Given the description of an element on the screen output the (x, y) to click on. 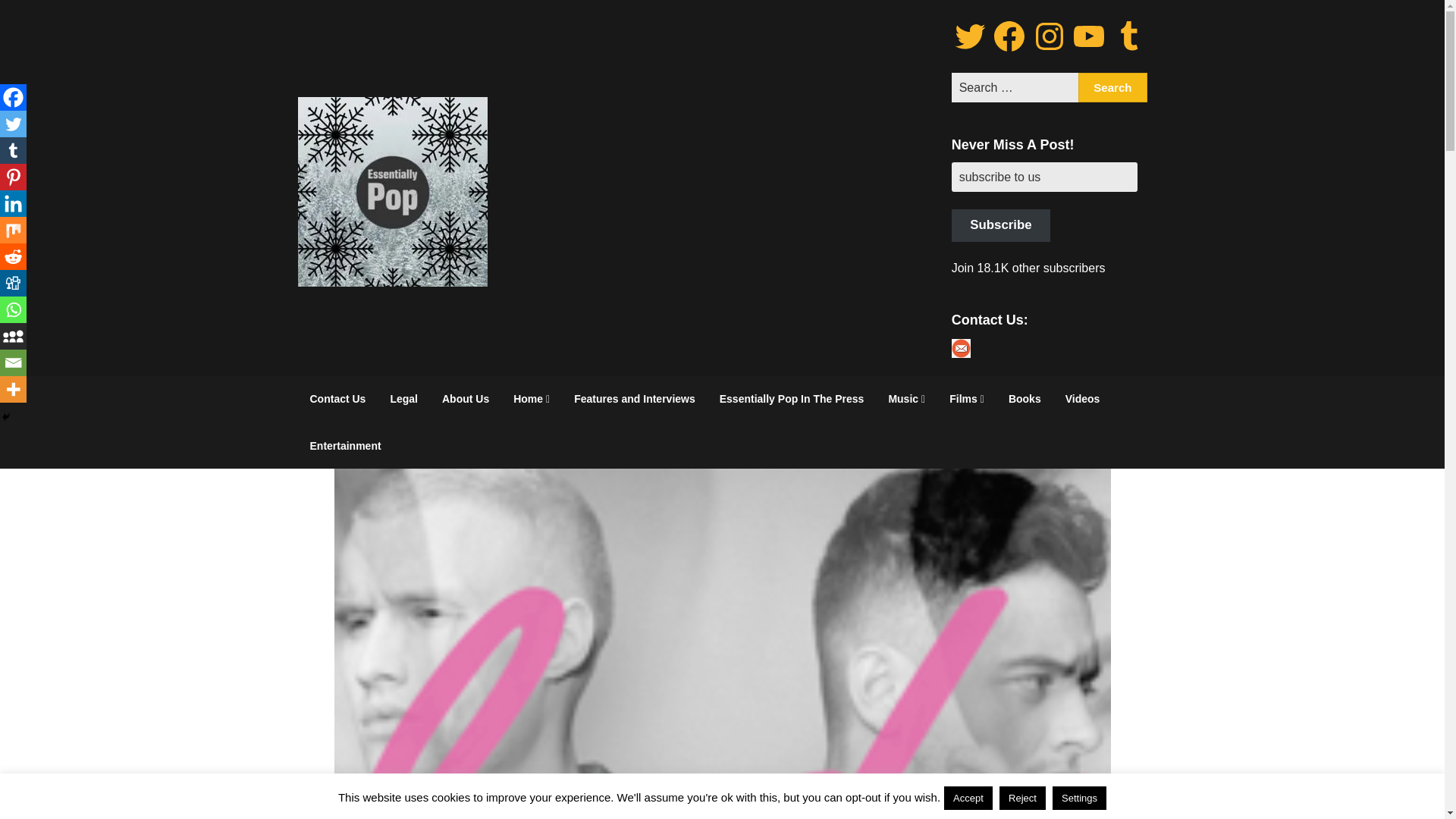
Contact Us (337, 398)
Mix (13, 230)
Search (1112, 87)
YouTube (1088, 36)
Reddit (13, 256)
Facebook (13, 97)
Videos (1082, 398)
Essentially Pop In The Press (791, 398)
Linkedin (13, 203)
Subscribe (1000, 225)
Home (531, 398)
Twitter (13, 123)
Books (1023, 398)
Twitter (970, 36)
Search (1112, 87)
